Given the description of an element on the screen output the (x, y) to click on. 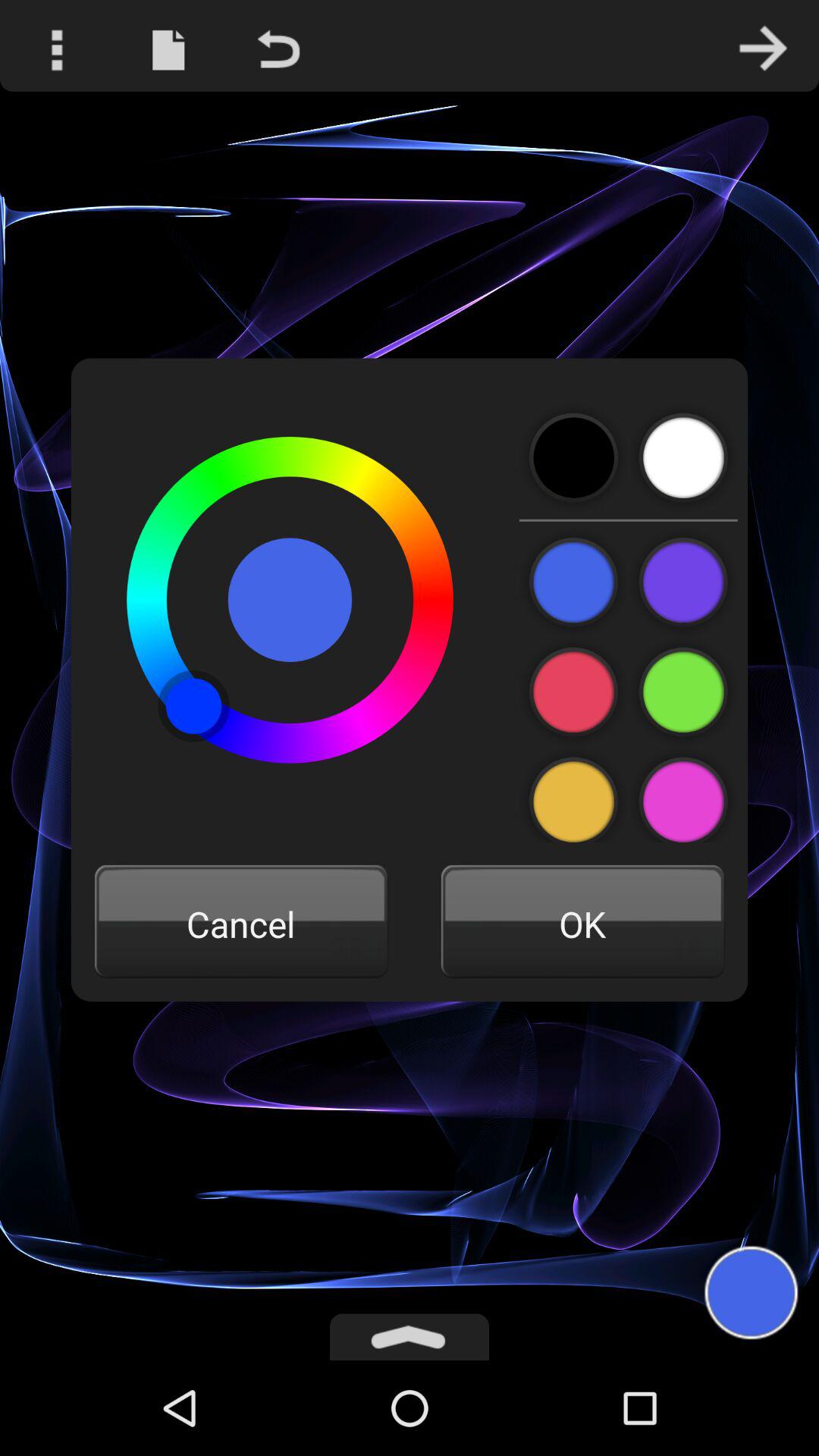
select the color (683, 692)
